Given the description of an element on the screen output the (x, y) to click on. 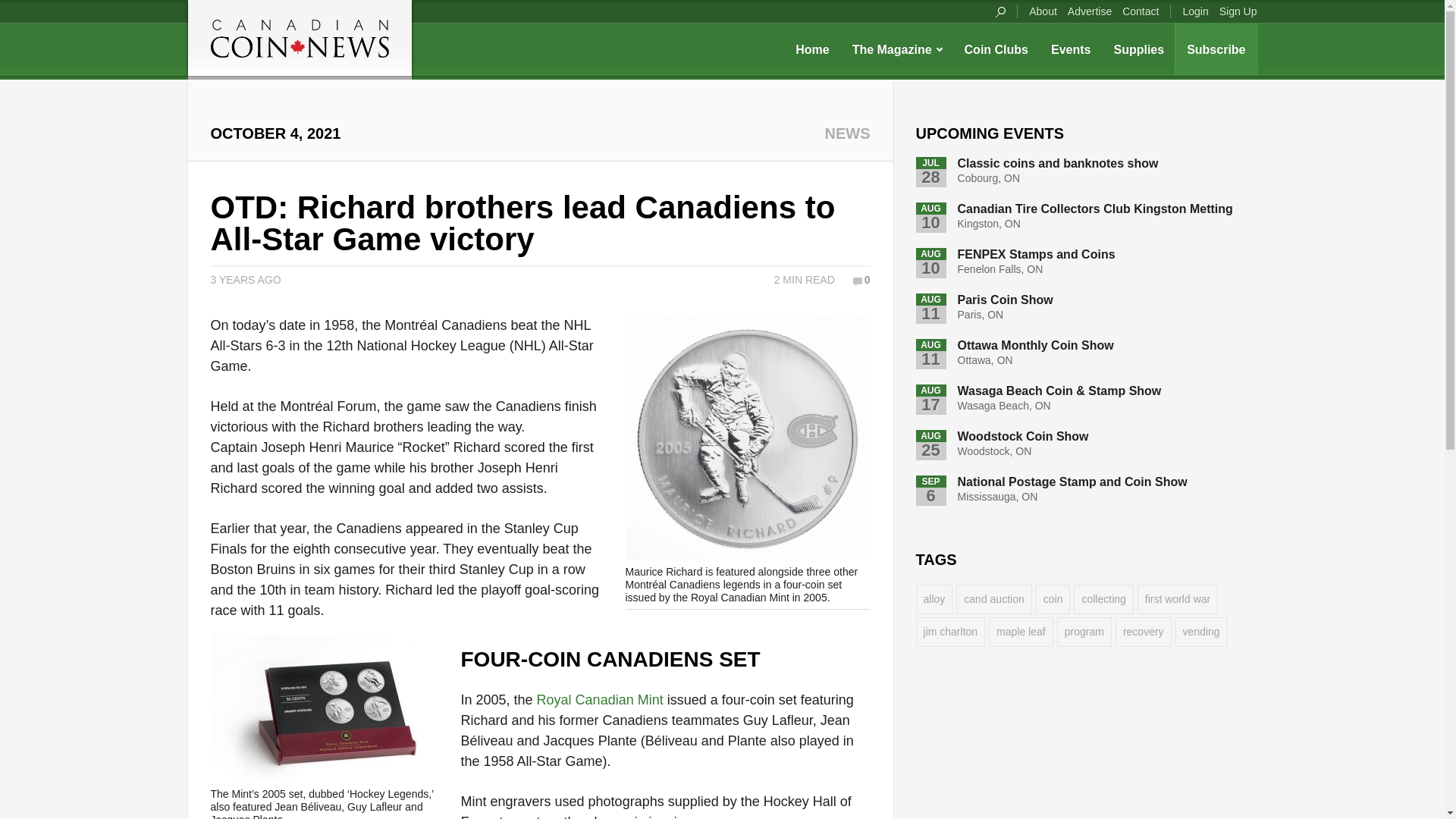
Login (1194, 10)
About (1042, 10)
Home (812, 49)
0 (861, 279)
Royal Canadian Mint (600, 699)
Contact (1139, 10)
Sign Up (1238, 10)
Subscribe (1215, 49)
Events (1070, 49)
Advertise (1089, 10)
Coin Clubs (996, 49)
Supplies (1138, 49)
Classic coins and banknotes show (1058, 163)
The Magazine (897, 49)
